Given the description of an element on the screen output the (x, y) to click on. 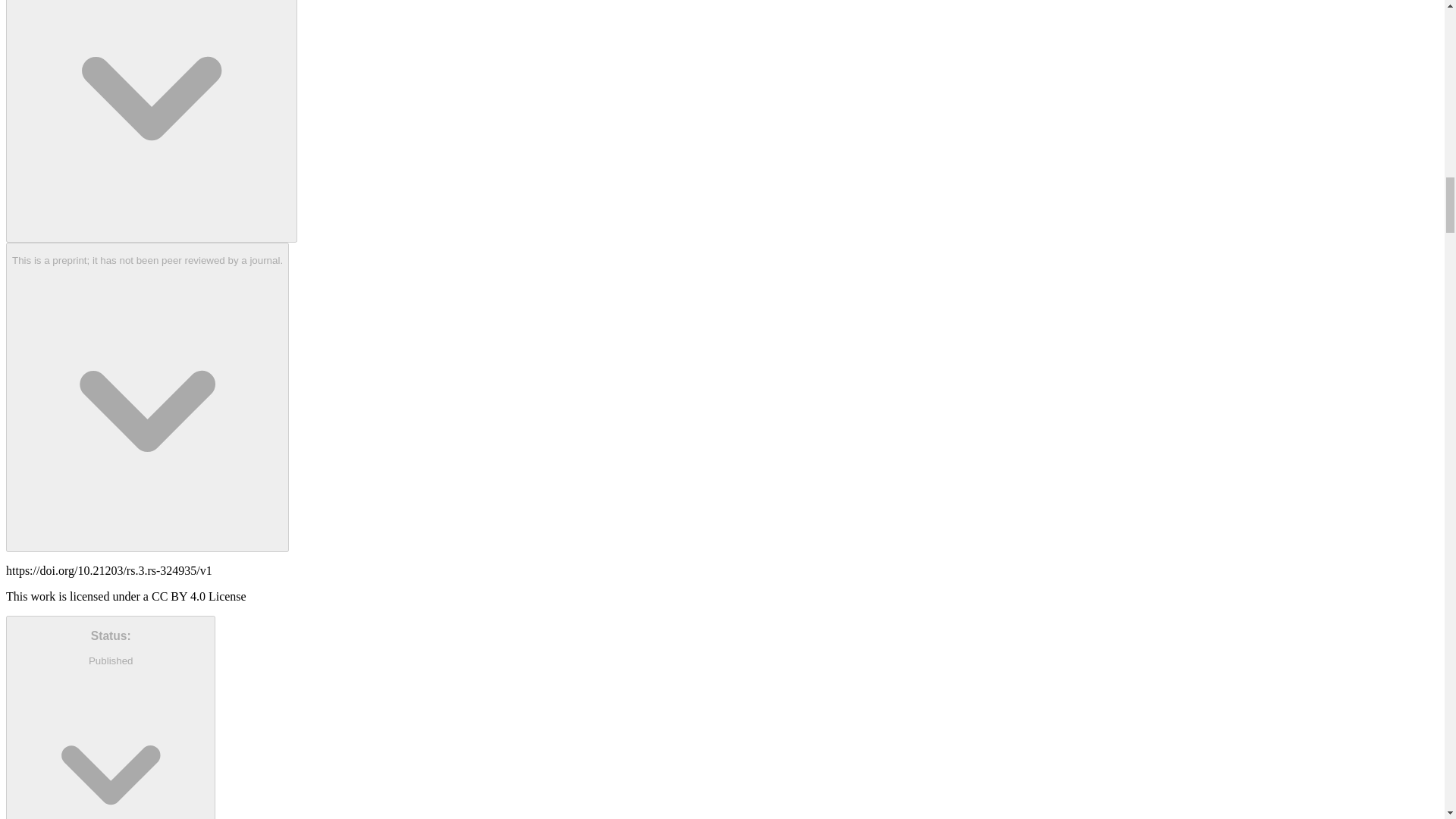
Nazanin Zahra Pourbaghaei, Mansoor Anbia, Fatemeh Rahimi (151, 121)
